Given the description of an element on the screen output the (x, y) to click on. 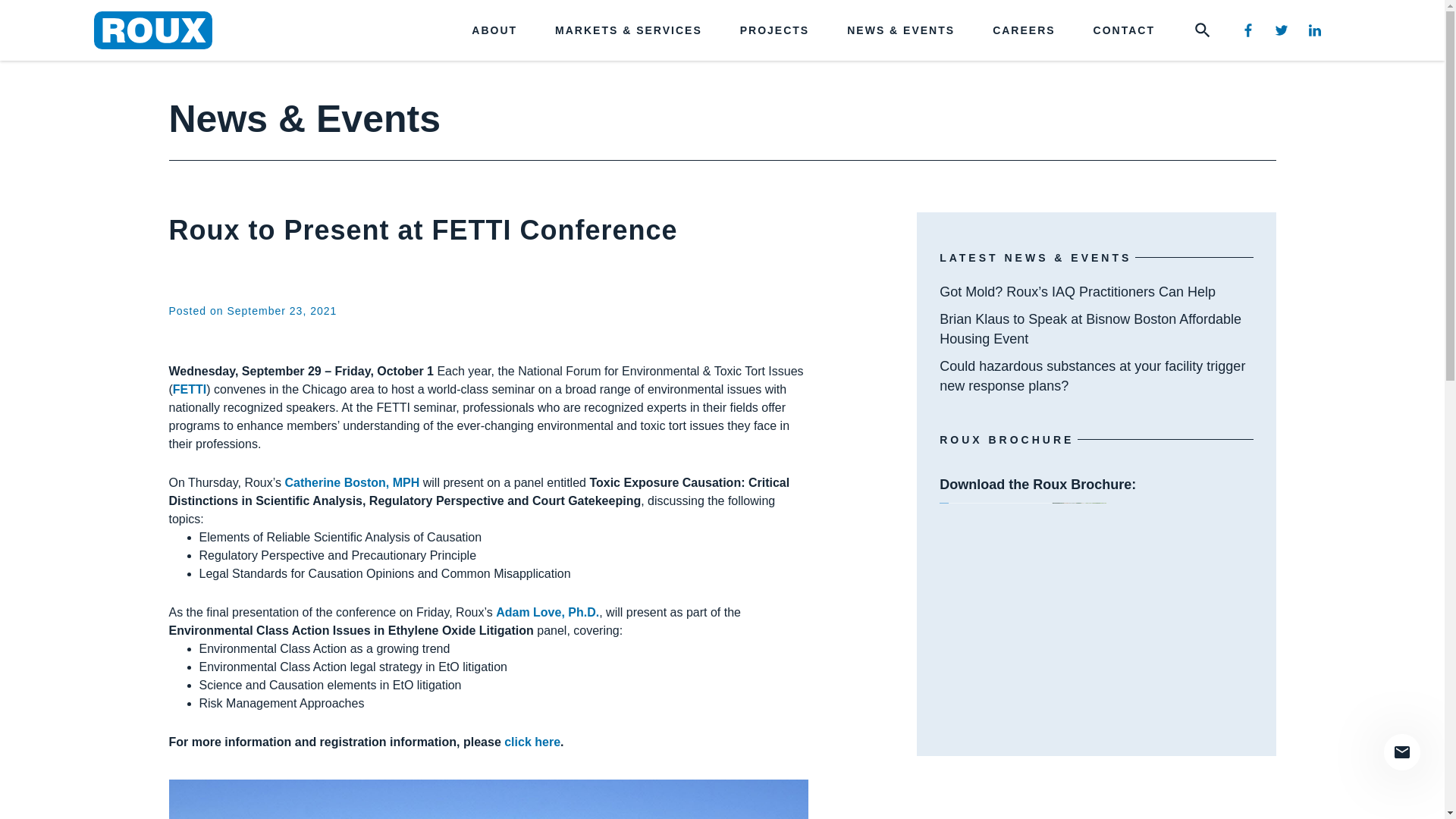
PROJECTS (774, 30)
ABOUT (493, 30)
